Given the description of an element on the screen output the (x, y) to click on. 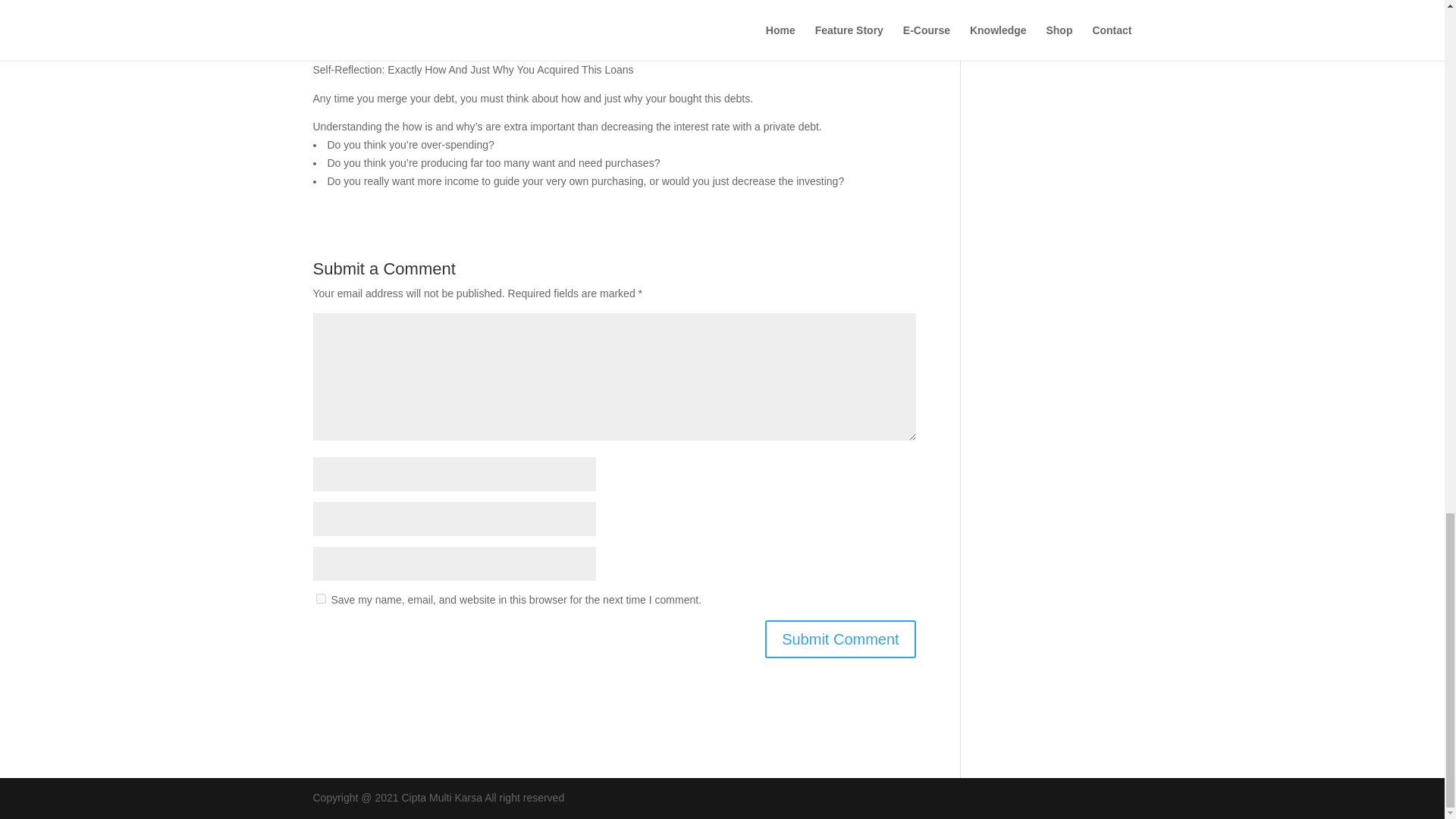
Submit Comment (840, 638)
Submit Comment (840, 638)
yes (319, 598)
